Given the description of an element on the screen output the (x, y) to click on. 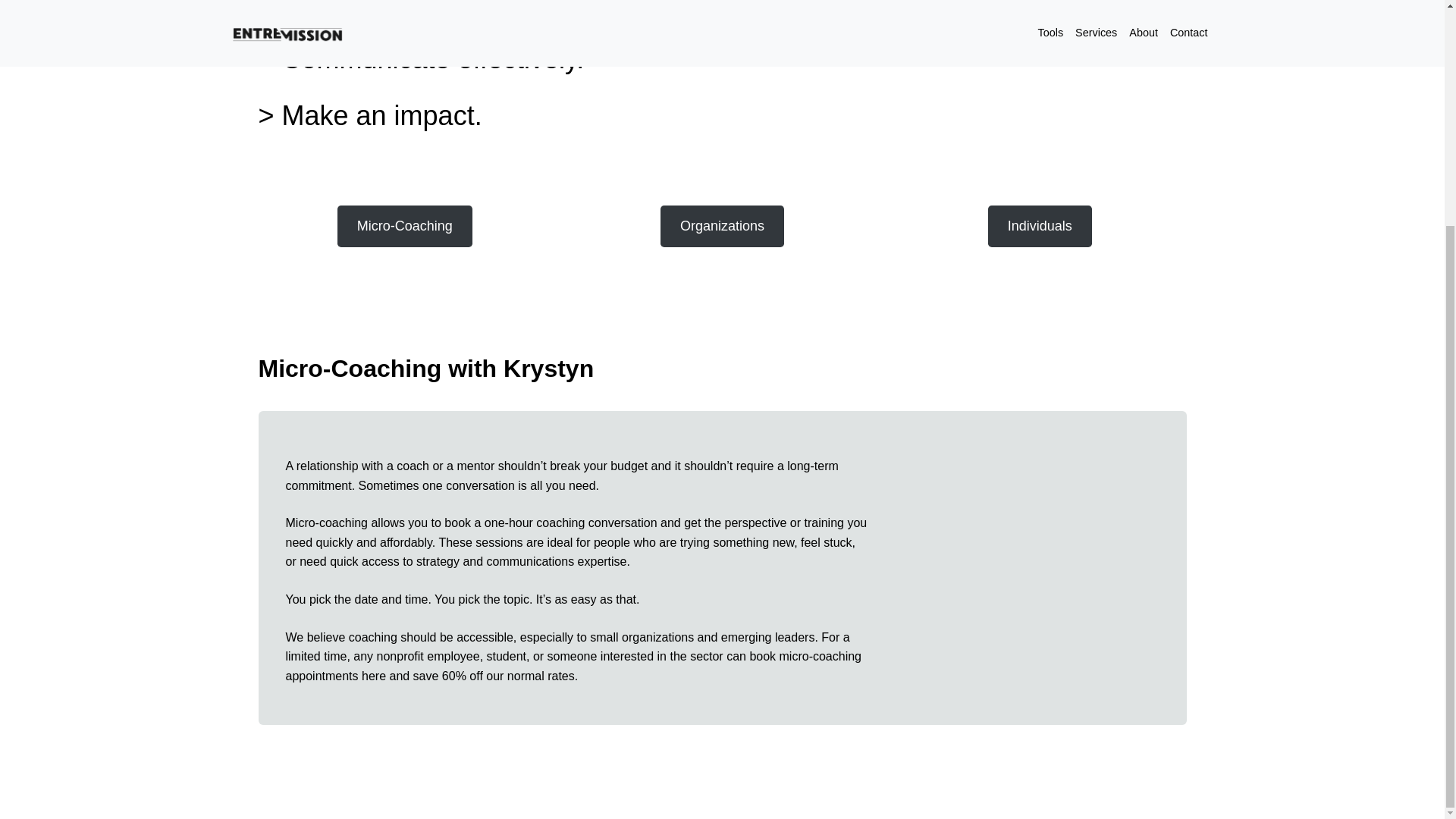
Individuals (1040, 226)
Micro-Coaching (404, 226)
Organizations (722, 226)
